Given the description of an element on the screen output the (x, y) to click on. 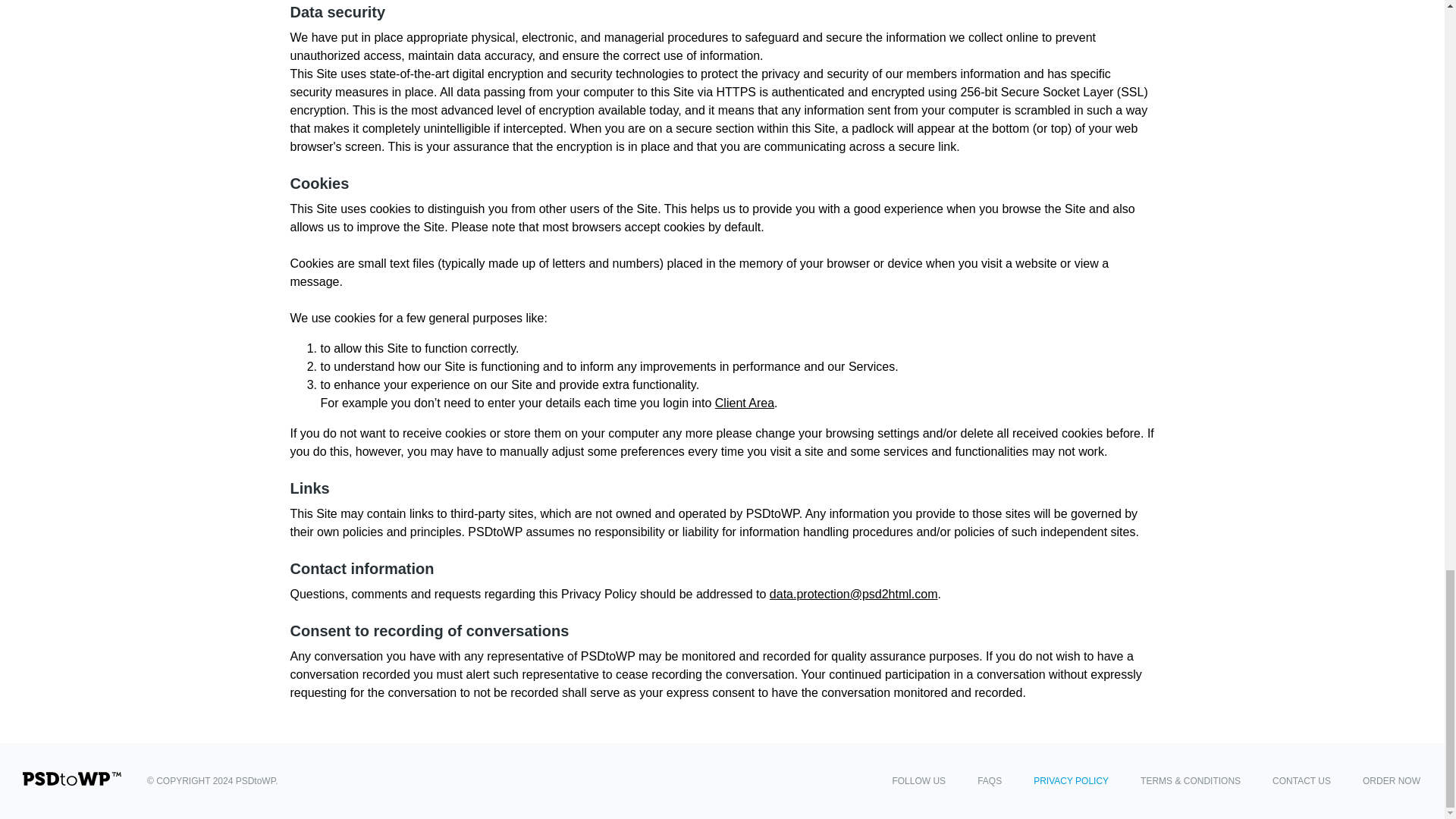
Client Area (744, 402)
PRIVACY POLICY (1070, 780)
ORDER NOW (1391, 780)
FOLLOW US (917, 780)
CONTACT US (1301, 780)
FAQS (988, 780)
